Given the description of an element on the screen output the (x, y) to click on. 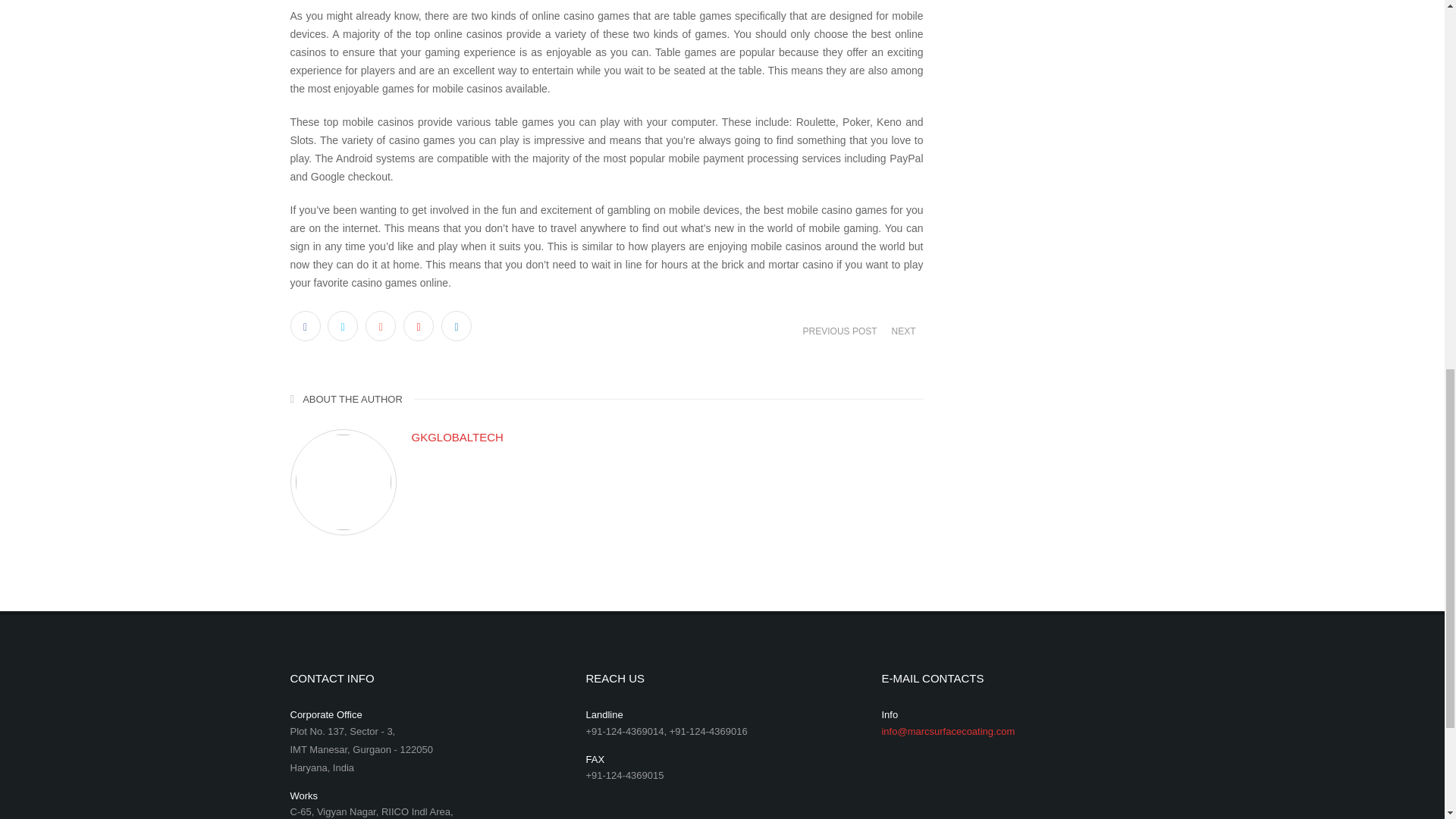
NEXT (902, 331)
GKGLOBALTECH (666, 437)
PREVIOUS POST (839, 331)
